Given the description of an element on the screen output the (x, y) to click on. 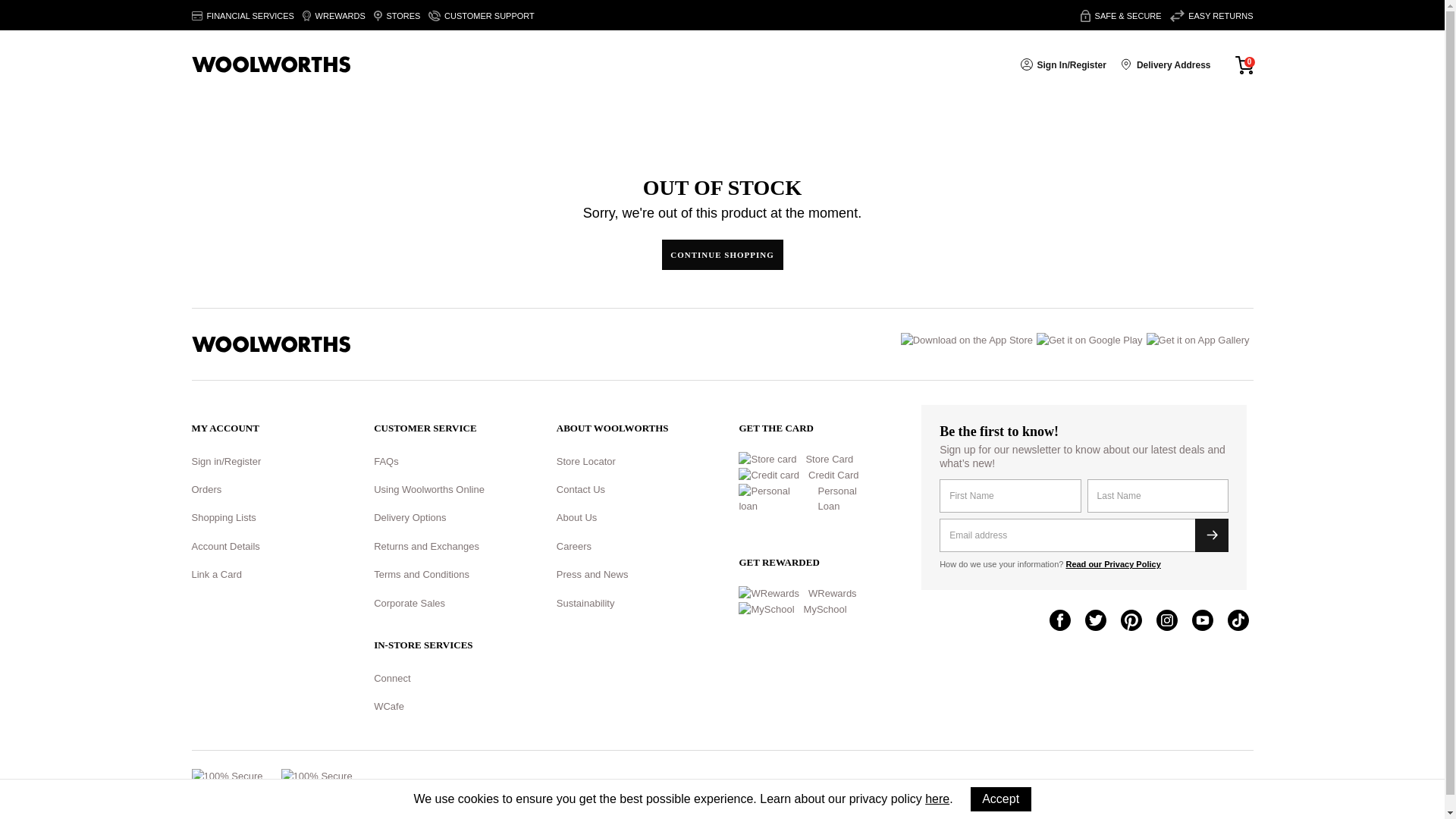
Link a Card (215, 573)
Financial Services (242, 15)
Stores (397, 15)
Delivery Options (409, 517)
Easy Returns (1211, 15)
Customer Support (481, 15)
EASY RETURNS (1211, 15)
Wrewards (333, 15)
0 (1243, 64)
Sustainability (585, 603)
